Given the description of an element on the screen output the (x, y) to click on. 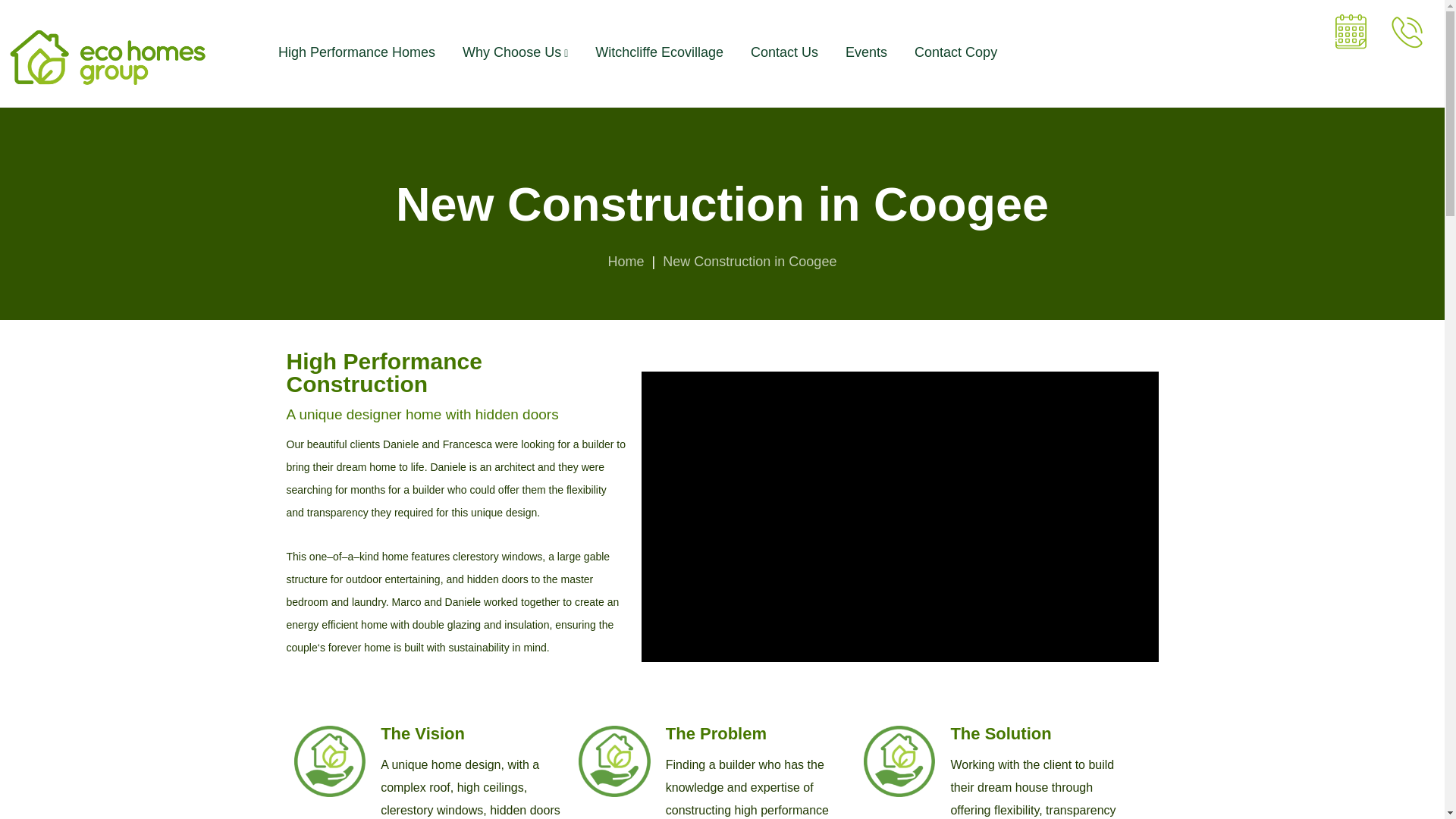
Home (626, 261)
Witchcliffe Ecovillage (659, 52)
High Performance Homes (356, 52)
Events (865, 52)
Contact Us (784, 52)
Why Choose Us (515, 52)
Contact Copy (955, 52)
Eco Homes Group (107, 58)
